Given the description of an element on the screen output the (x, y) to click on. 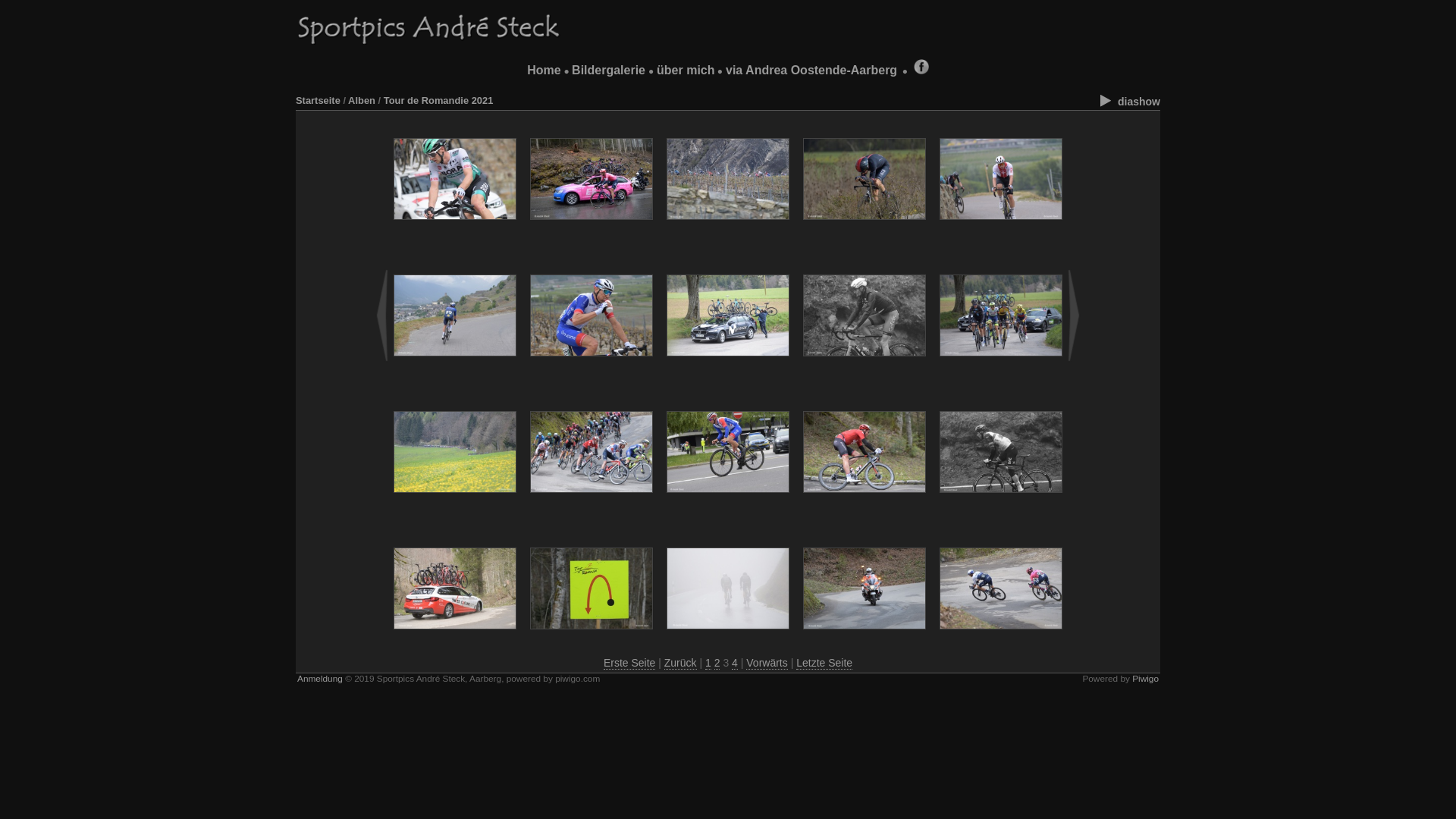
Tour de Romandie 2021 Element type: text (438, 100)
DSC 7621 00006 Element type: hover (864, 588)
DSC 6195 00023 Element type: hover (864, 178)
piwigo.com Element type: text (577, 678)
DSC 6937 00001 Element type: hover (591, 315)
DSC 9717 00022 Element type: hover (1000, 451)
Erste Seite Element type: text (629, 662)
DSC 9209 00028 Element type: hover (727, 451)
DSC 7082 00009 Element type: hover (727, 315)
DSC 7591 00009 Element type: hover (454, 588)
DSC 6658 00008 Element type: hover (454, 178)
> Element type: text (1073, 315)
DSC 6665 00005 Element type: hover (591, 178)
DSC 7488 00006 Element type: hover (864, 451)
Alben Element type: text (361, 100)
Piwigo Element type: text (1145, 678)
Anmeldung Element type: text (319, 678)
Home Element type: text (543, 69)
< Element type: text (381, 315)
DSC 7297 00007 Element type: hover (454, 451)
Startseite Element type: text (317, 100)
DSC 0352 00004 Element type: hover (727, 588)
4 Element type: text (734, 662)
1 Element type: text (708, 662)
DSC 7152 00010 Element type: hover (1000, 315)
DSC 6810 00006 Element type: hover (1000, 178)
via Andrea Oostende-Aarberg Element type: text (811, 69)
DSC 6676 00004 Element type: hover (727, 178)
2 Element type: text (717, 662)
Bildergalerie Element type: text (608, 69)
DSC 0634 00012 Element type: hover (864, 315)
DSC 7484 00005 Element type: hover (591, 451)
Letzte Seite Element type: text (824, 662)
DSC 6889 00004 Element type: hover (454, 315)
DSC 7609 00008 Element type: hover (591, 588)
diashow Element type: text (1127, 101)
DSC 7862 00001 Element type: hover (1000, 588)
